Given the description of an element on the screen output the (x, y) to click on. 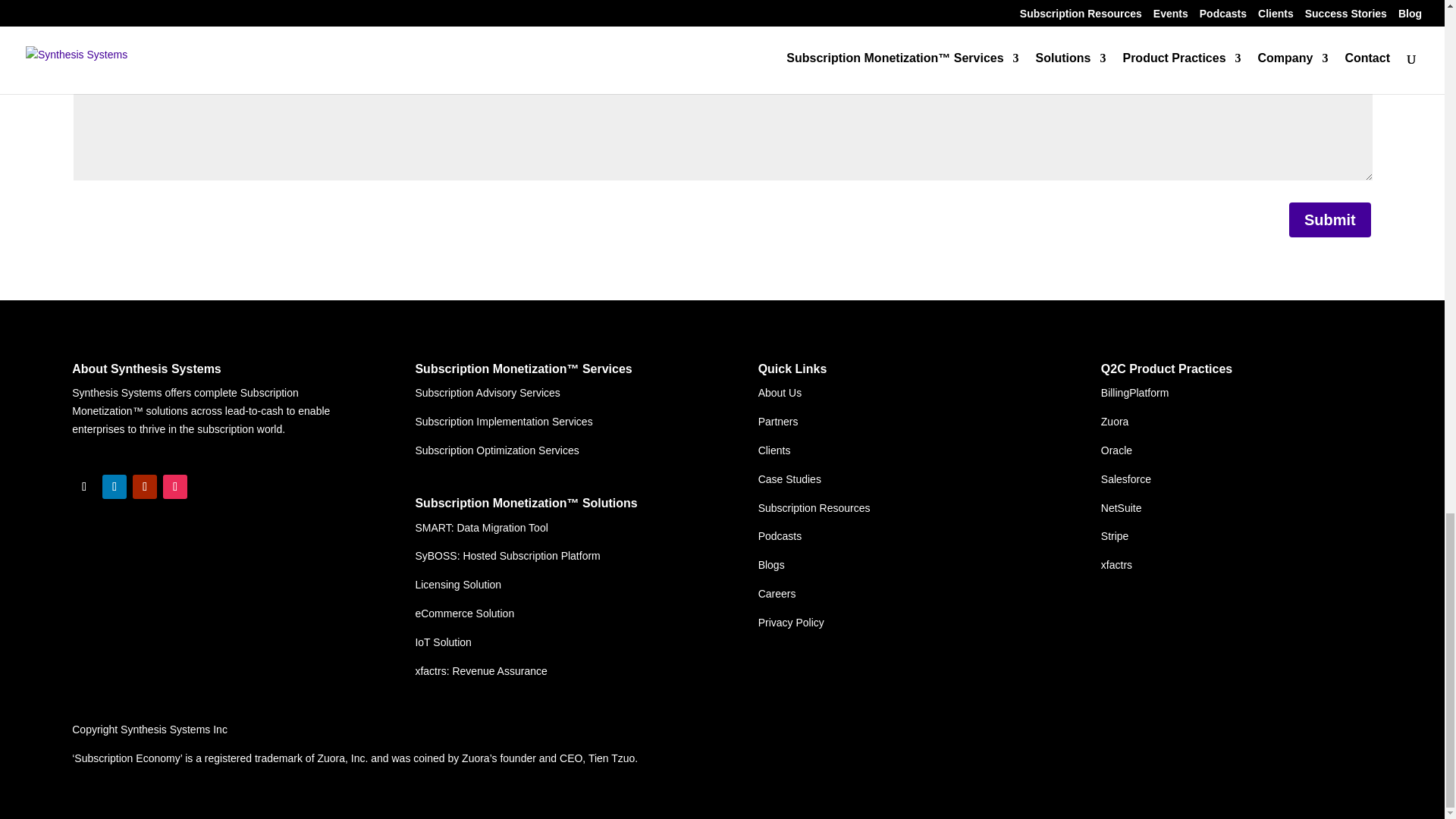
Follow on LinkedIn (113, 486)
Follow on Youtube (144, 486)
Submit (1330, 219)
Follow on X (83, 486)
Follow on Instagram (175, 486)
